Given the description of an element on the screen output the (x, y) to click on. 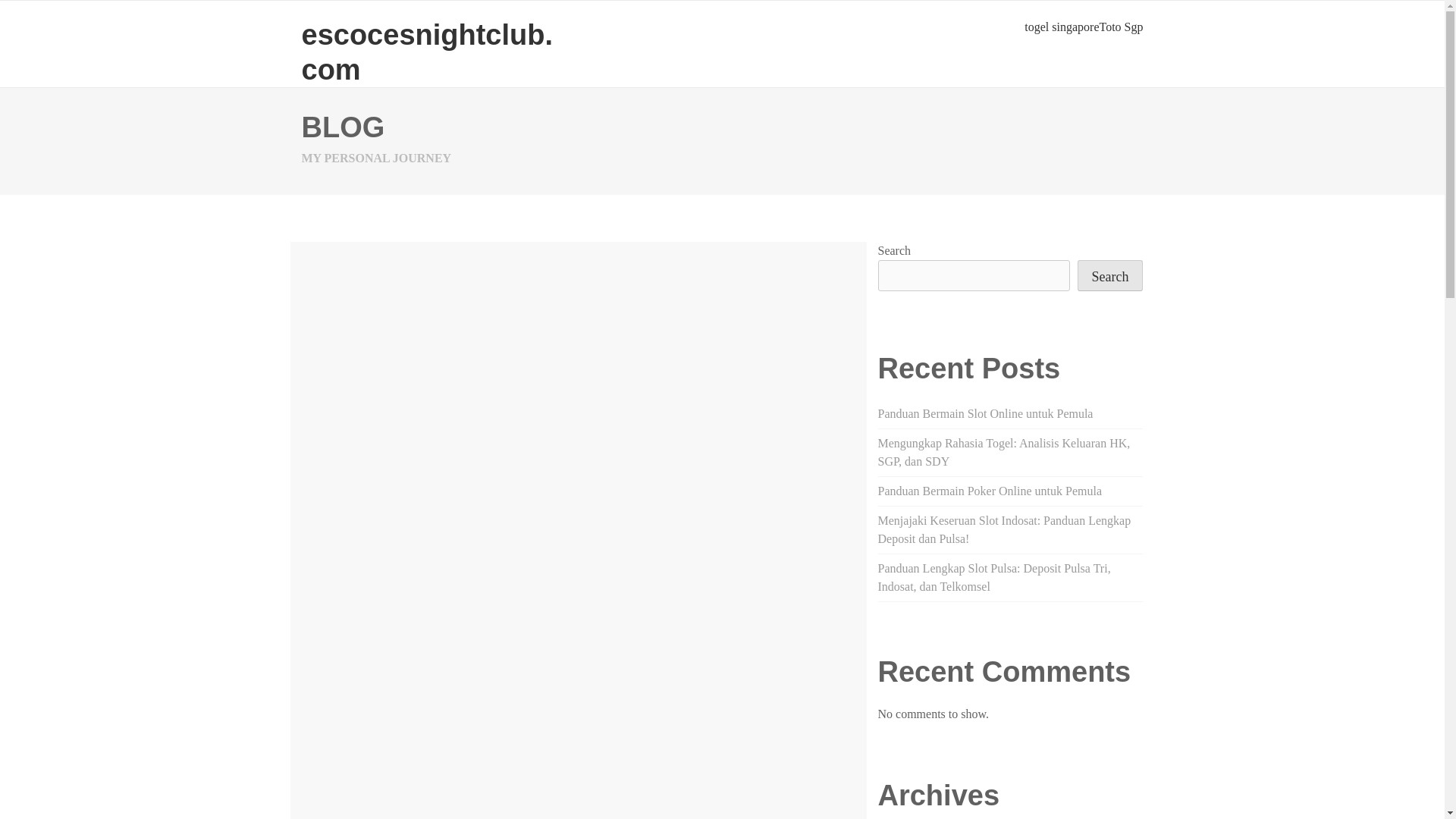
Search (1109, 275)
Panduan Bermain Poker Online untuk Pemula (989, 490)
Mengungkap Rahasia Togel: Analisis Keluaran HK, SGP, dan SDY (1004, 451)
Toto Sgp (1120, 27)
Panduan Bermain Slot Online untuk Pemula (985, 413)
escocesnightclub.com (427, 51)
togel singapore (1062, 27)
